Given the description of an element on the screen output the (x, y) to click on. 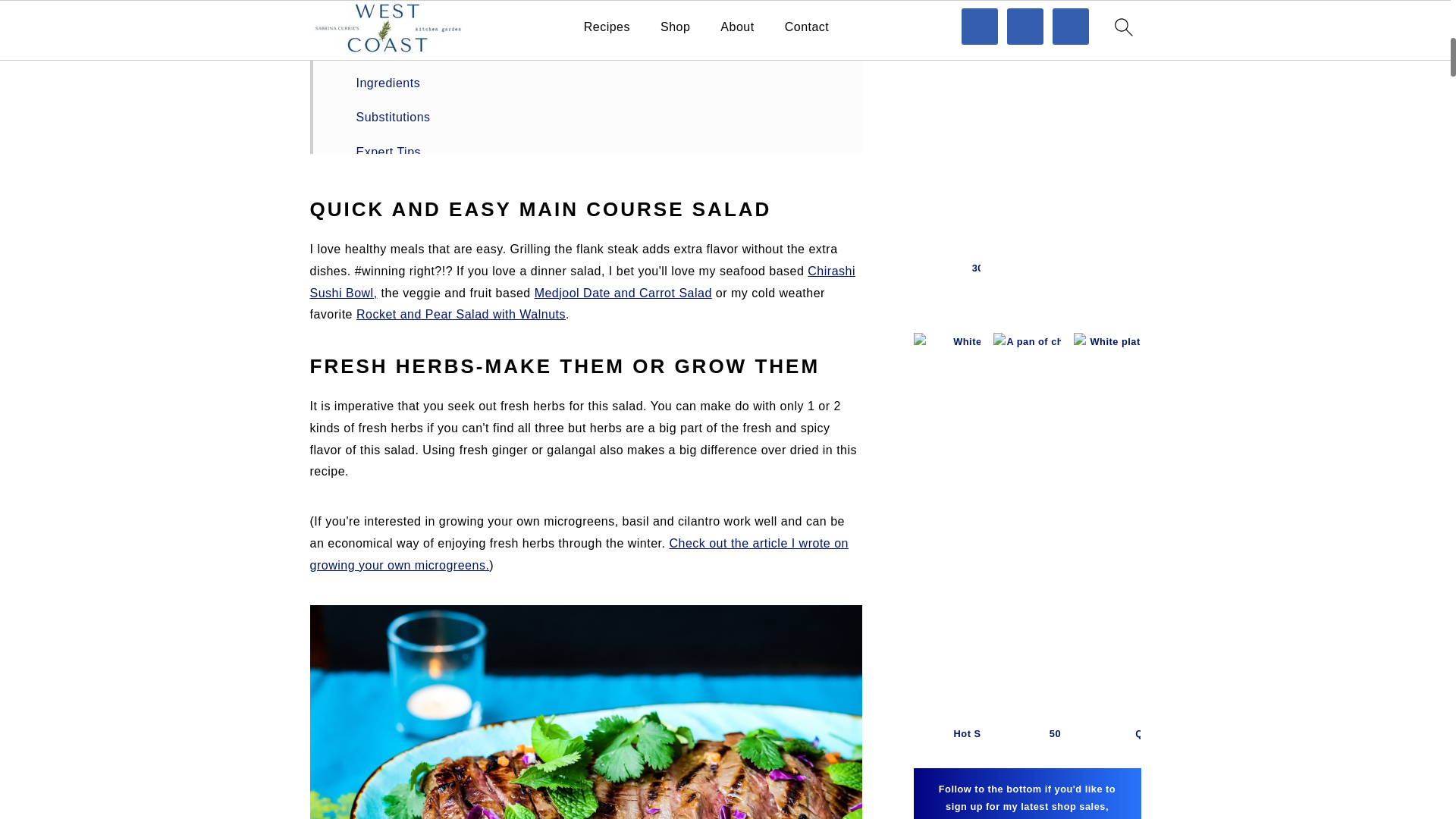
Fresh herbs-make them or grow them (464, 12)
Flank Steak vs Skirt Steak (432, 47)
Ingredients (388, 82)
